Given the description of an element on the screen output the (x, y) to click on. 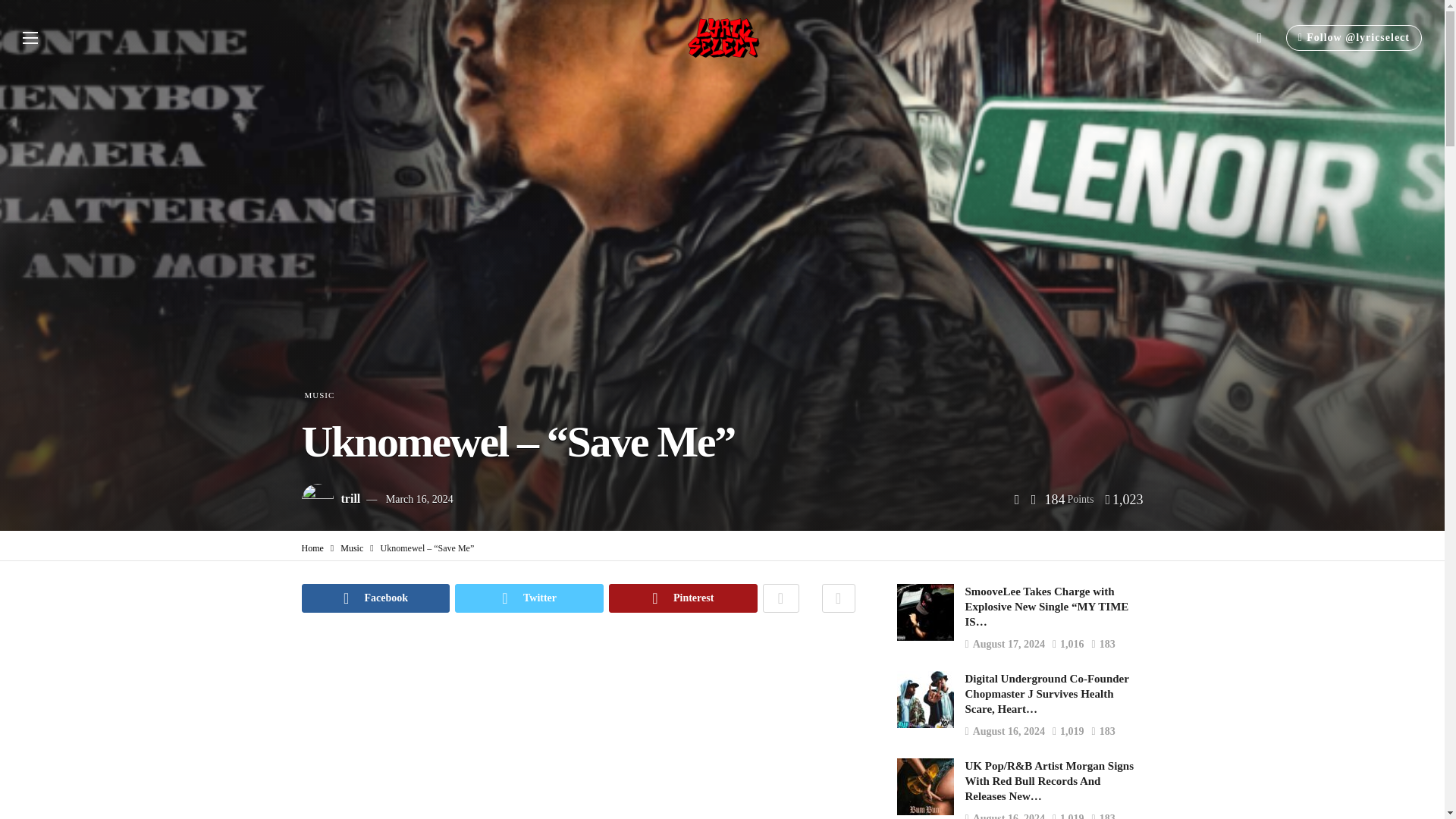
Music (351, 547)
Facebook (375, 597)
Home (312, 547)
trill (350, 498)
March 16, 2024 (418, 499)
MUSIC (318, 395)
Add Bookmark (839, 597)
Twitter (529, 597)
Pinterest (682, 597)
